Given the description of an element on the screen output the (x, y) to click on. 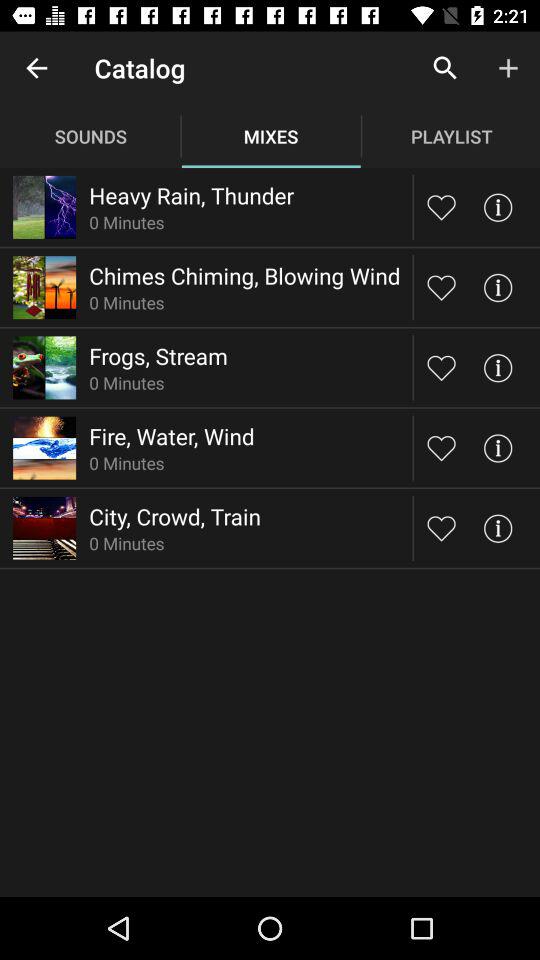
more information (498, 206)
